Given the description of an element on the screen output the (x, y) to click on. 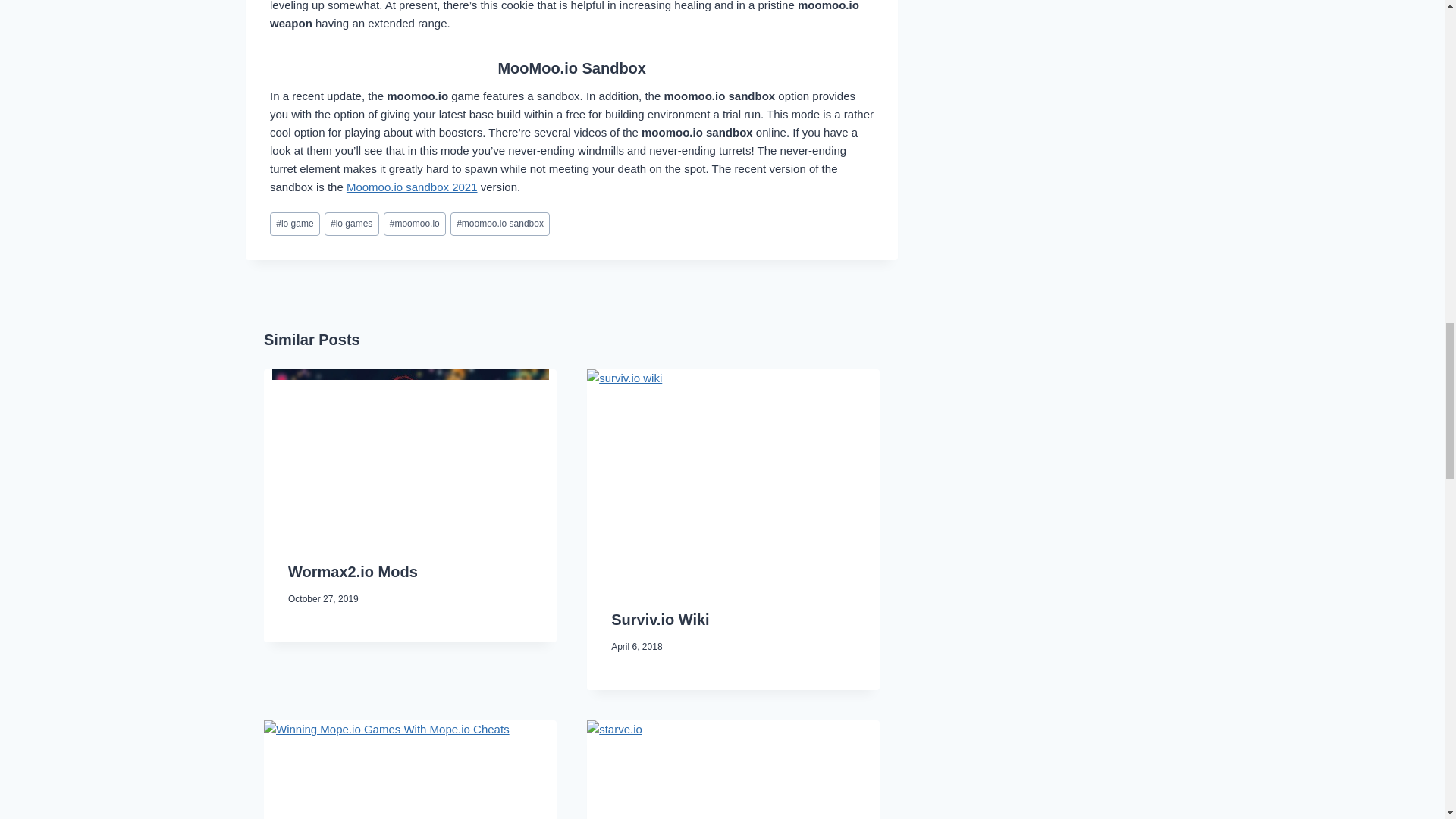
moomoo.io sandbox (499, 223)
io games (351, 223)
Moomoo.io sandbox 2021 (411, 186)
moomoo.io (414, 223)
io game (294, 223)
